Given the description of an element on the screen output the (x, y) to click on. 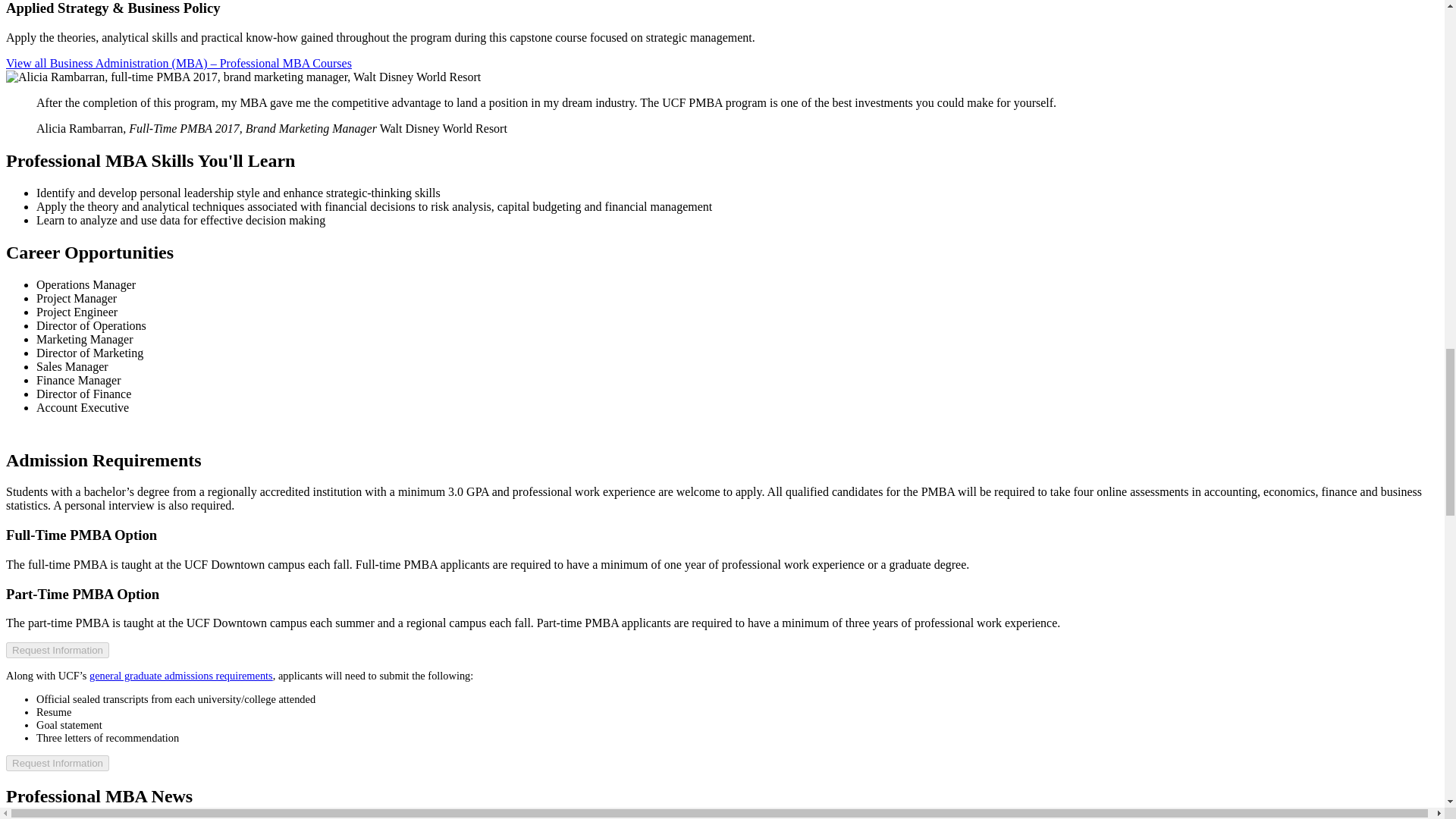
general graduate admissions requirements (180, 675)
Request Information (57, 763)
Request Information (57, 650)
Full-Time PMBA 2017, Brand Marketing Manager (253, 128)
